Given the description of an element on the screen output the (x, y) to click on. 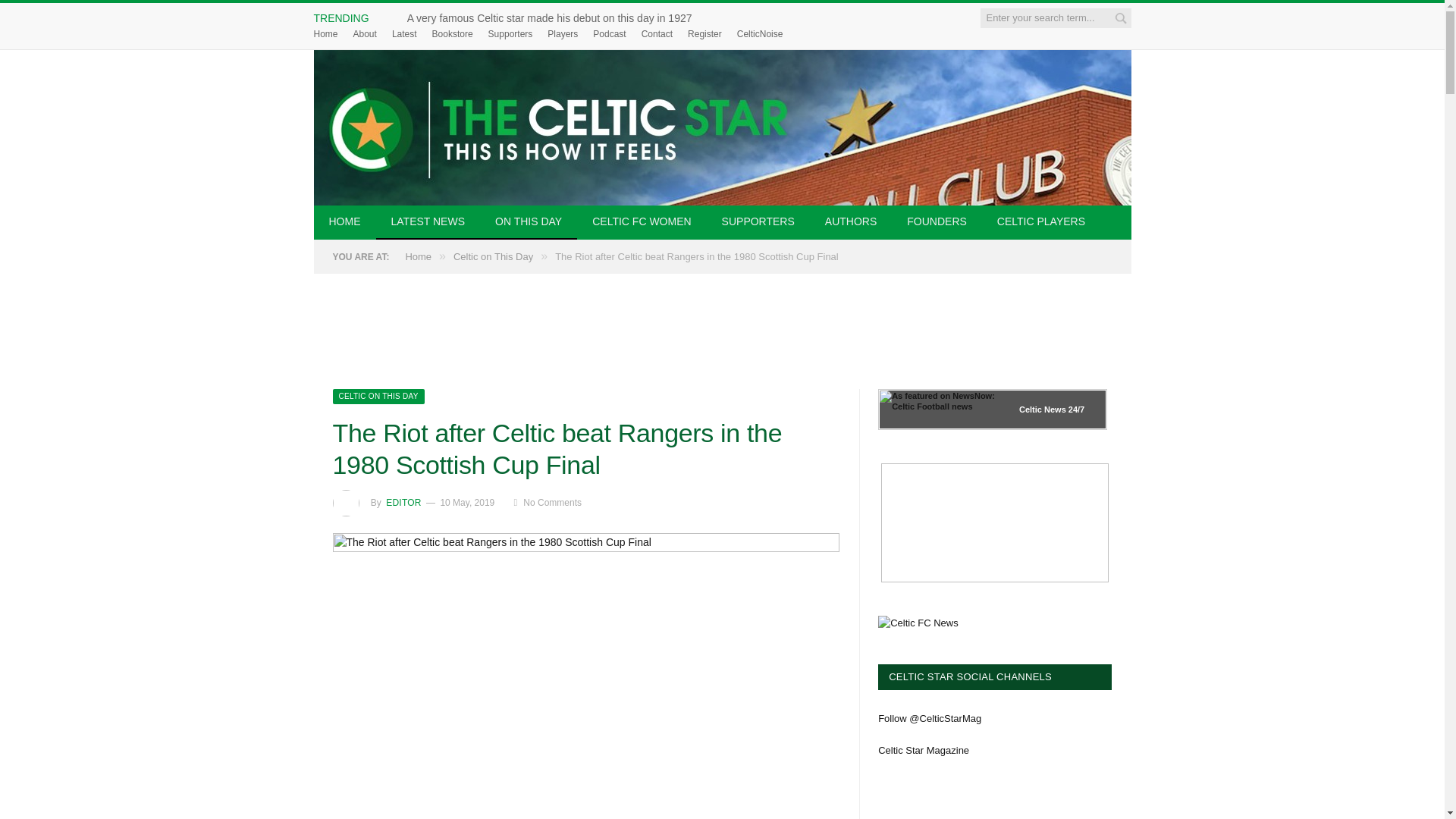
Posts by Editor (403, 502)
Podcast (609, 33)
About (365, 33)
The Celtic Star (722, 127)
Contact (657, 33)
CELTIC PLAYERS (1040, 222)
Celtic on This Day (377, 396)
CelticNoise (759, 33)
AUTHORS (850, 222)
Home (325, 33)
